Given the description of an element on the screen output the (x, y) to click on. 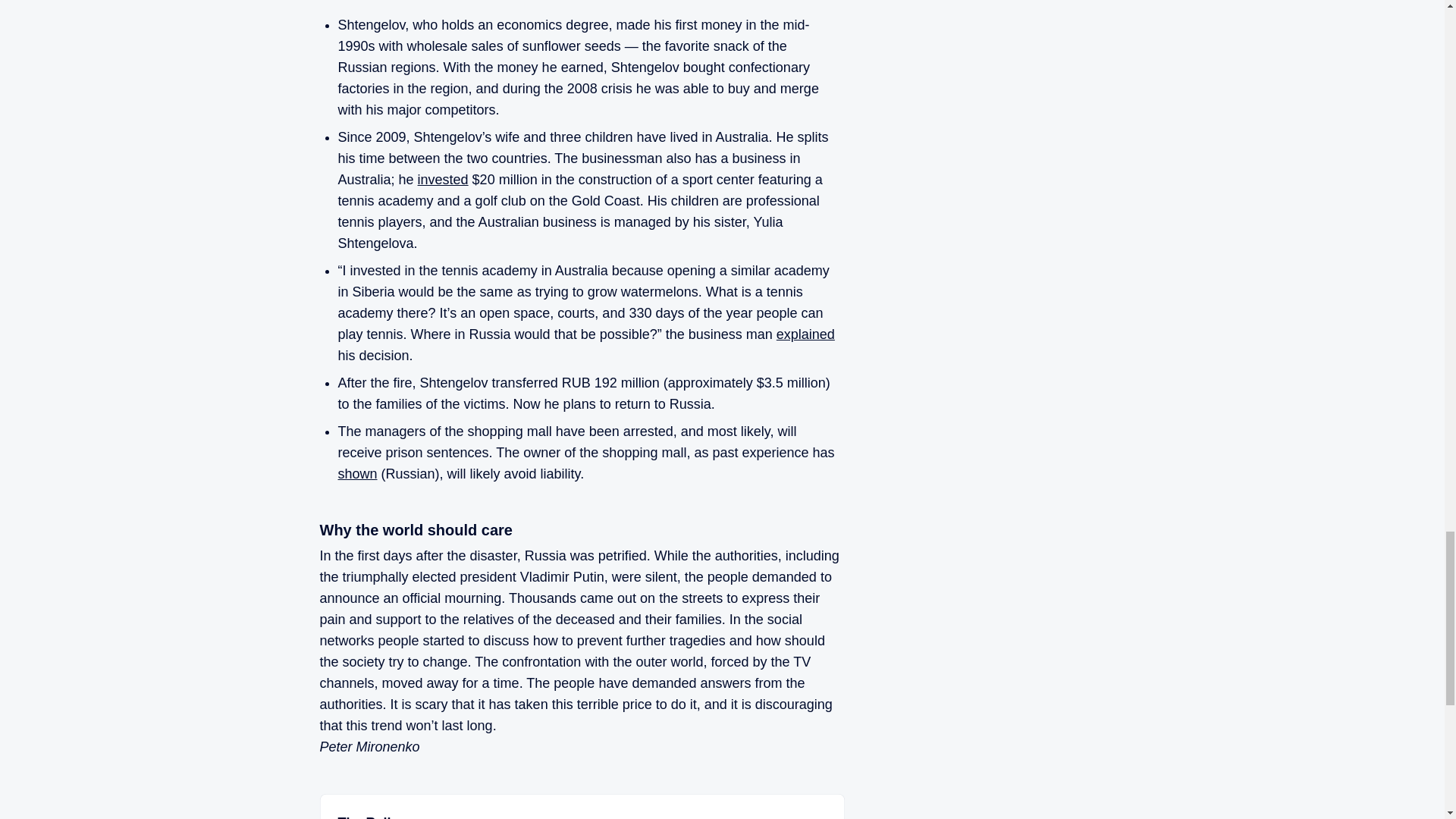
explained (805, 334)
The Bell (364, 816)
shown (357, 473)
invested (442, 179)
